Given the description of an element on the screen output the (x, y) to click on. 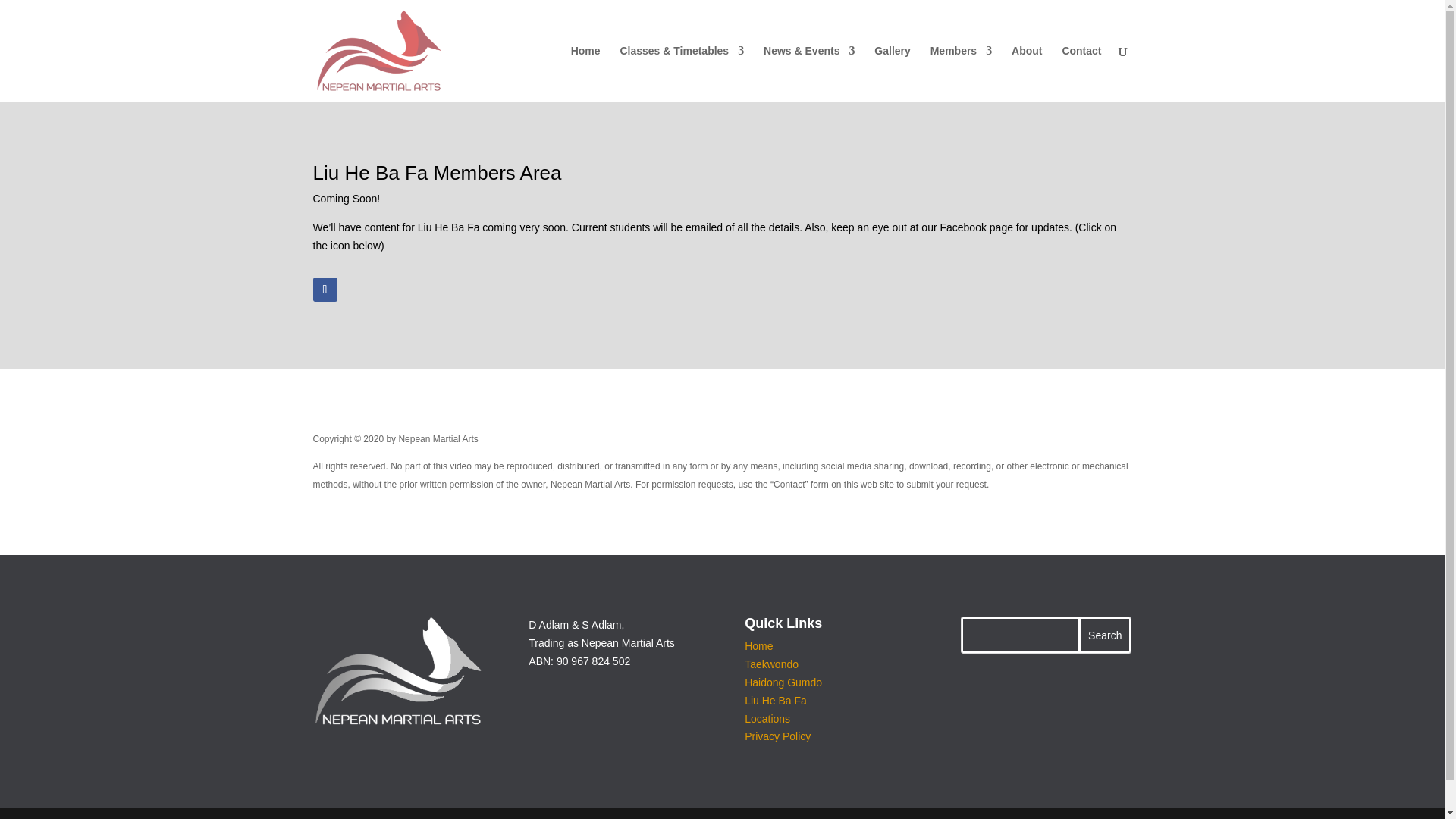
Follow on Facebook (324, 289)
Home (758, 645)
Search (1104, 634)
Members (960, 73)
Haidong Gumdo (783, 682)
Search (1104, 634)
Taekwondo (770, 664)
